Given the description of an element on the screen output the (x, y) to click on. 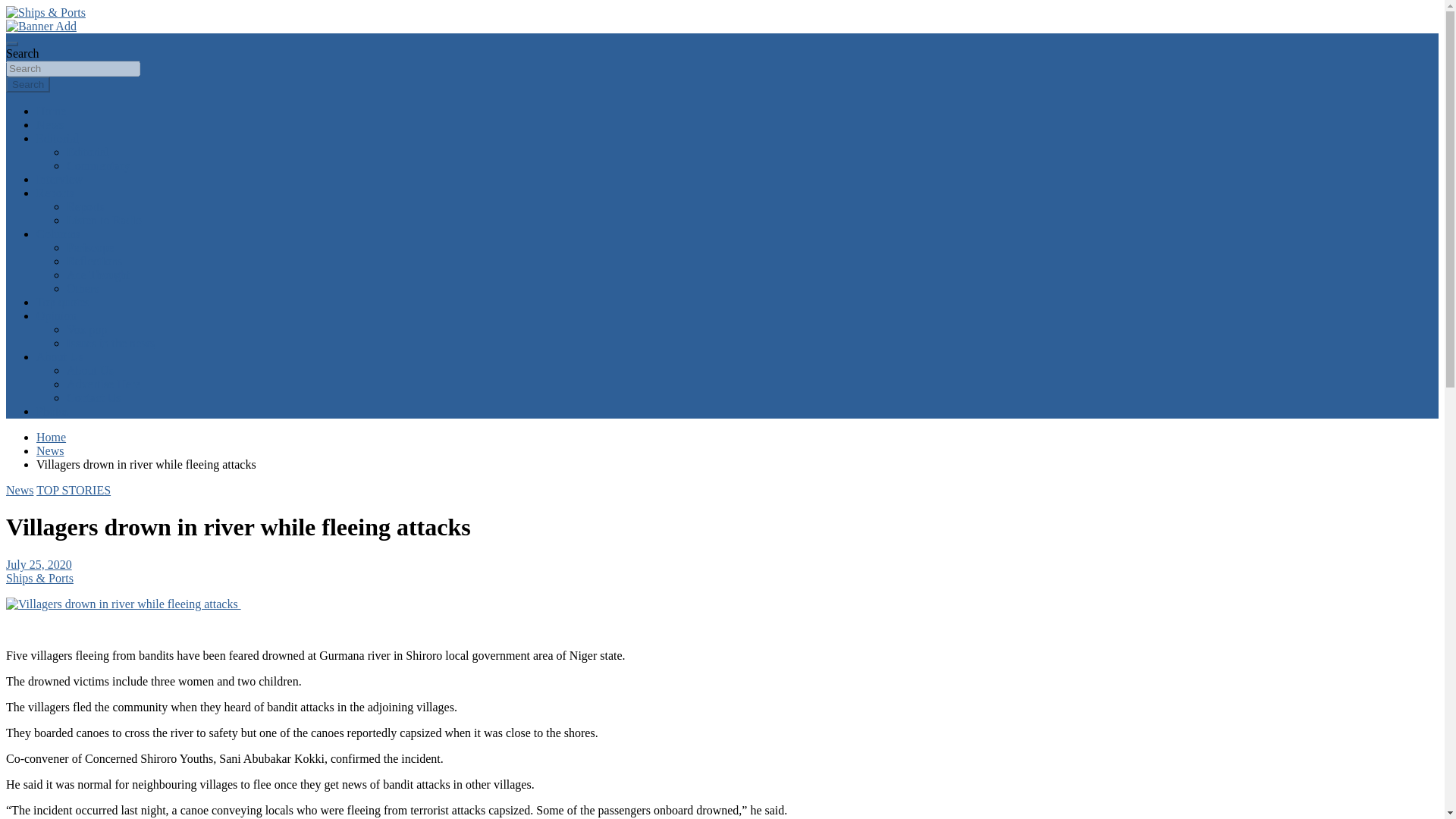
News (50, 124)
Top quotes (62, 301)
Home (50, 436)
Reflections (94, 260)
News (50, 450)
Reports (85, 205)
July 25, 2020 (38, 563)
Editorial (87, 151)
Contact Us (93, 397)
Issues in the news (110, 342)
